Given the description of an element on the screen output the (x, y) to click on. 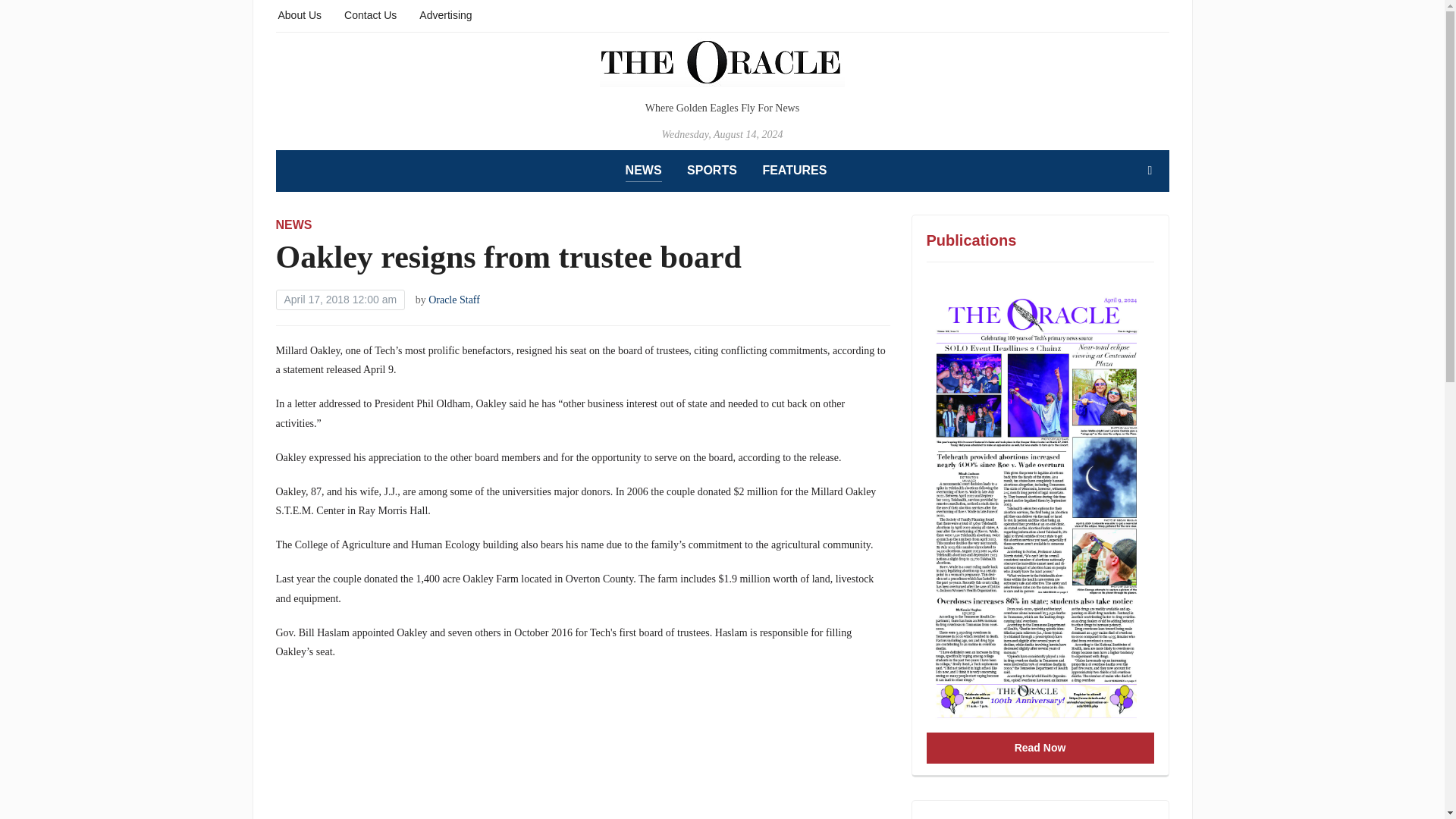
NEWS (644, 170)
Contact Us (369, 14)
Oracle Staff (454, 299)
Search (1149, 170)
FEATURES (794, 170)
Read Now (1040, 747)
Advertising (445, 14)
SPORTS (711, 170)
About Us (299, 14)
NEWS (294, 224)
